Given the description of an element on the screen output the (x, y) to click on. 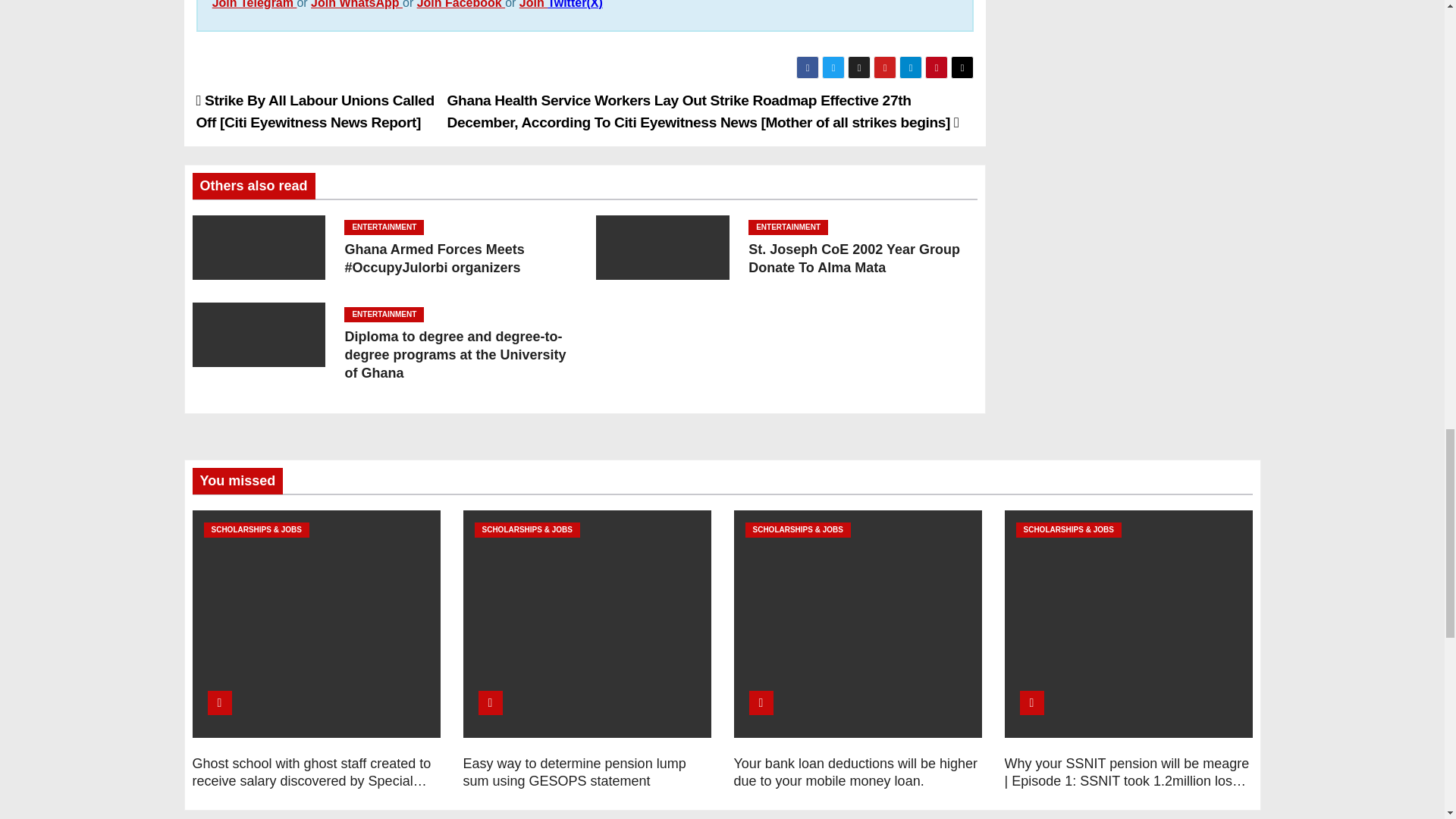
Join Facebook (460, 4)
Join WhatsApp (357, 4)
Join  (533, 4)
Join Telegram (254, 4)
